Given the description of an element on the screen output the (x, y) to click on. 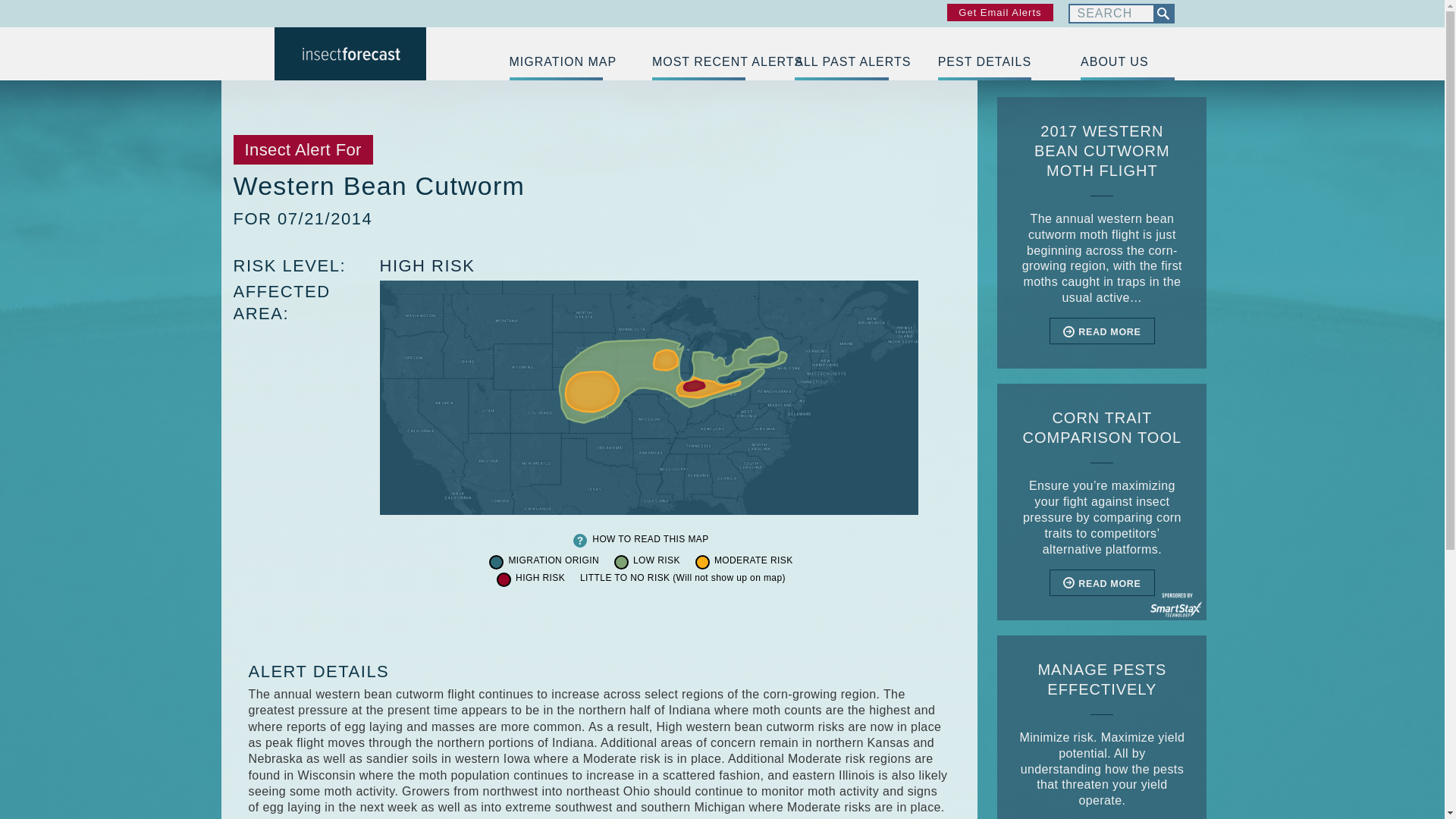
Search (1110, 13)
MIGRATION ORIGIN (553, 561)
MODERATE RISK (753, 561)
HIGH RISK (426, 265)
SEARCH (1162, 13)
Get Email Alerts (999, 12)
ALL PAST ALERTS (841, 62)
MIGRATION MAP (555, 62)
MOST RECENT ALERTS (698, 62)
